Given the description of an element on the screen output the (x, y) to click on. 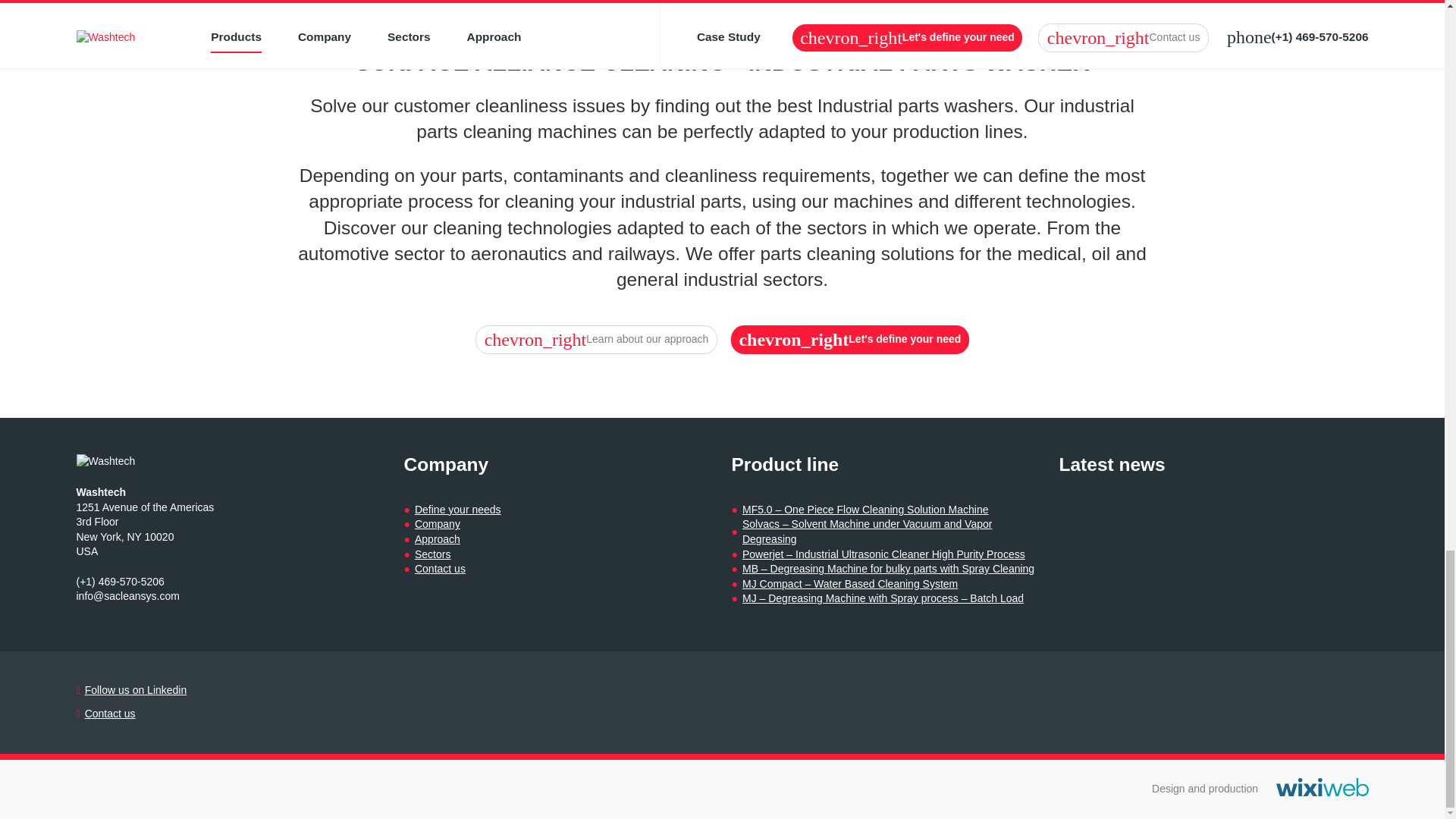
Define your needs (457, 509)
Contact us (109, 713)
Company (437, 524)
Contact us (439, 569)
Approach (437, 539)
Design and production (1322, 787)
Sectors (431, 554)
Follow us on Linkedin (135, 690)
